Given the description of an element on the screen output the (x, y) to click on. 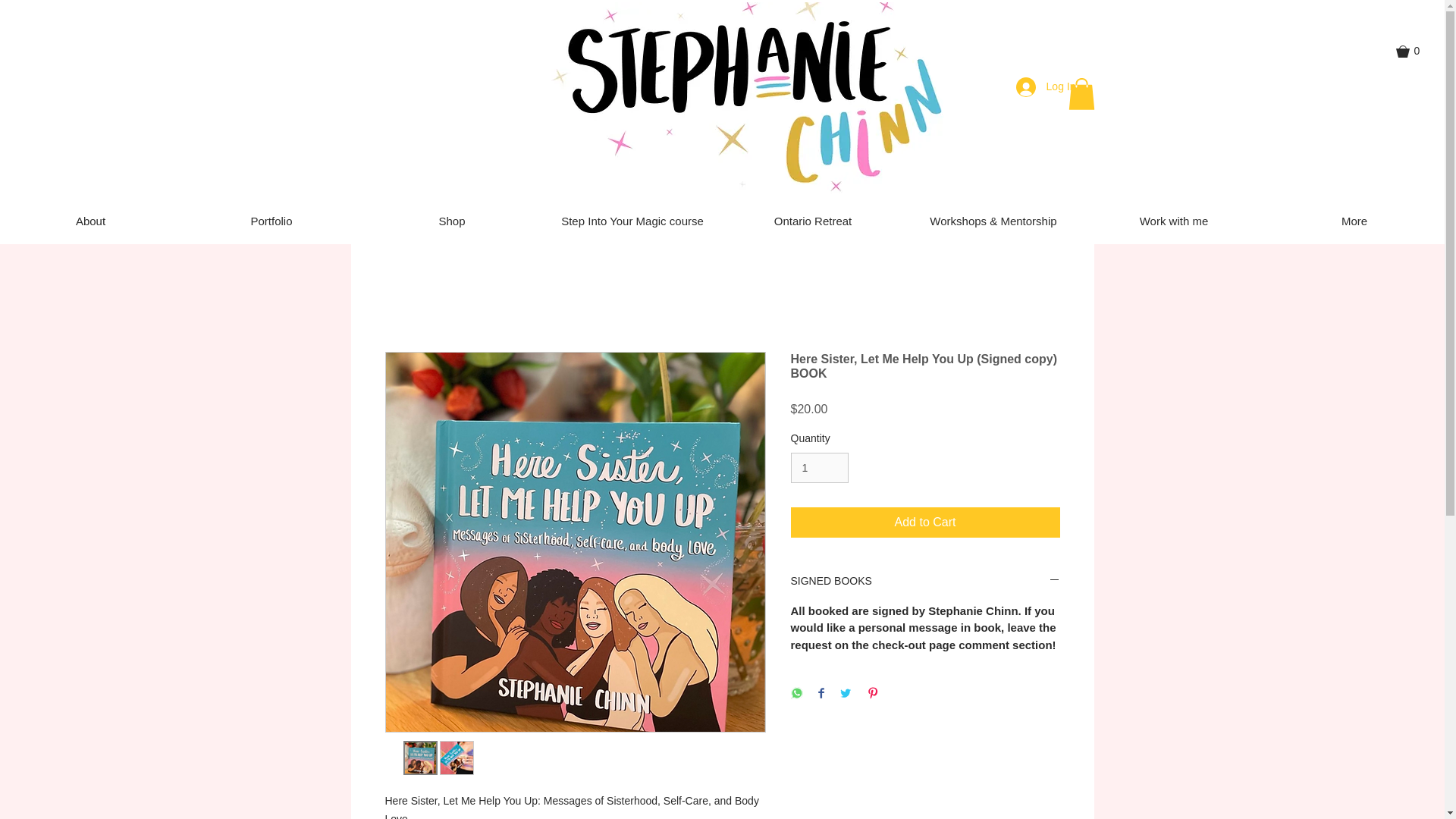
Portfolio (270, 221)
Work with me (1173, 221)
Step Into Your Magic course (631, 221)
SIGNED BOOKS (924, 581)
1 (818, 468)
Log In (1046, 86)
Add to Cart (924, 521)
Ontario Retreat (812, 221)
About (90, 221)
Shop (451, 221)
